Given the description of an element on the screen output the (x, y) to click on. 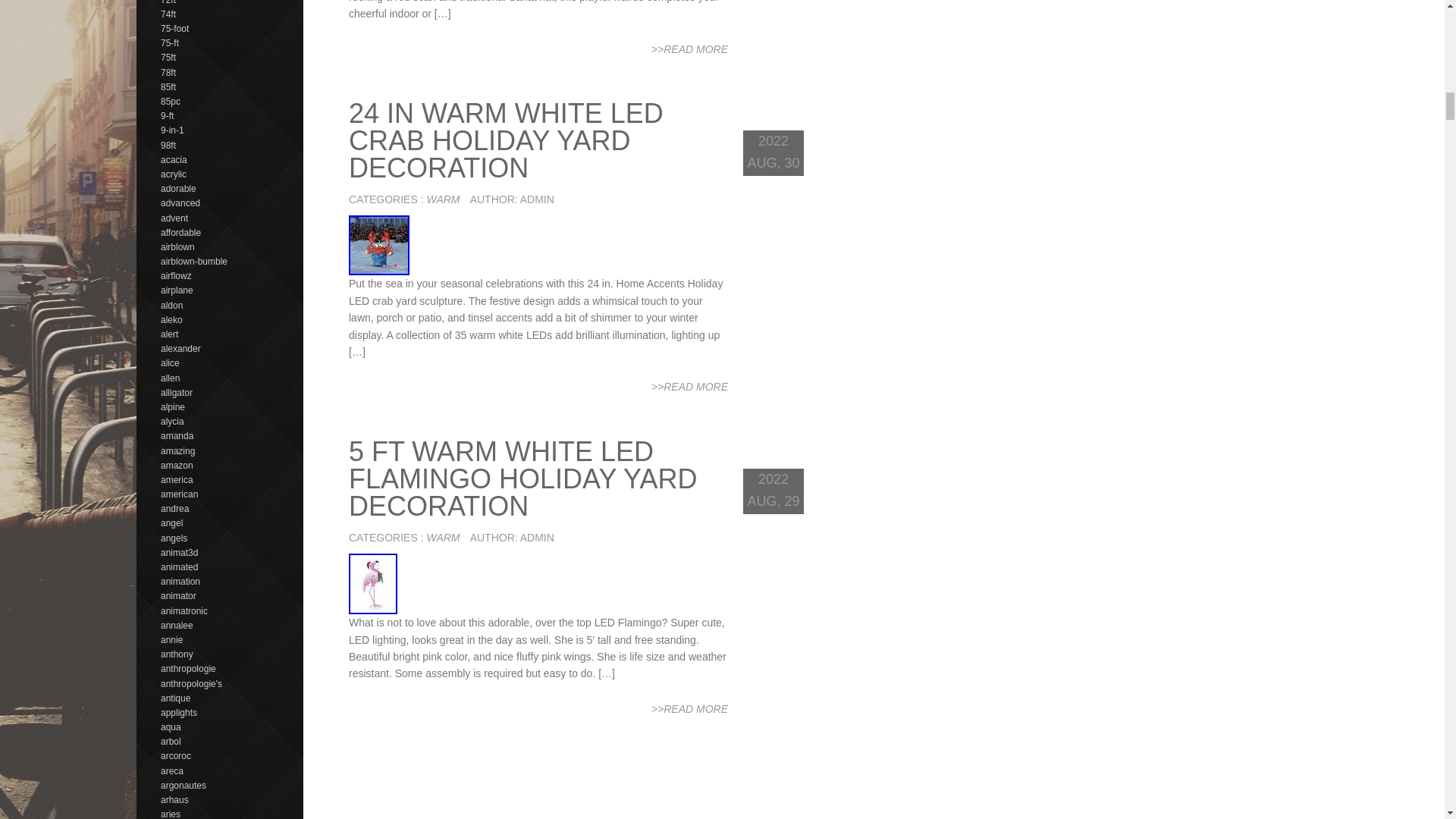
24 IN WARM WHITE LED CRAB HOLIDAY YARD DECORATION (506, 140)
